Given the description of an element on the screen output the (x, y) to click on. 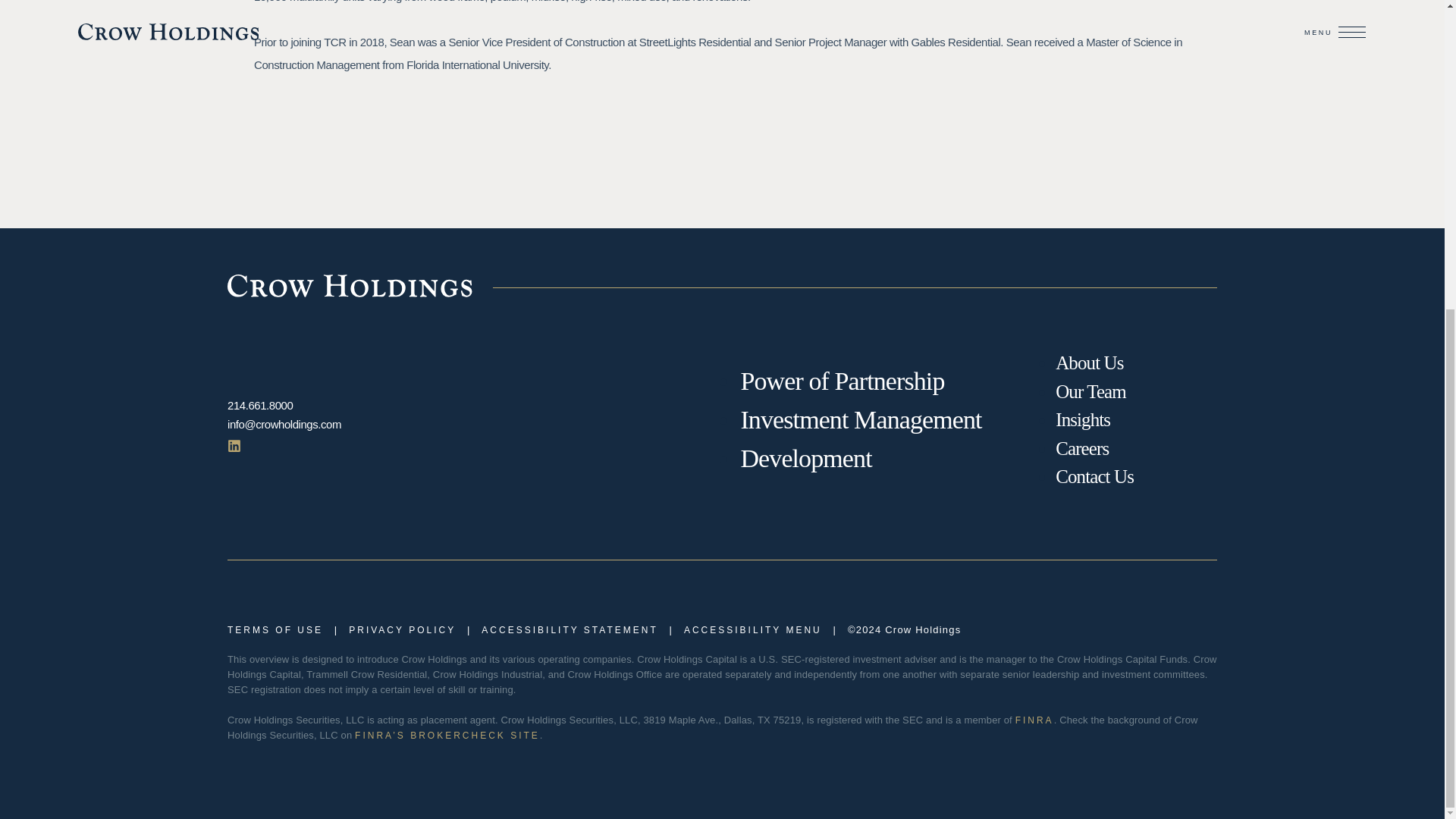
PRIVACY POLICY (402, 629)
Our Team (1090, 391)
Careers (1081, 448)
Development (804, 458)
ACCESSIBILITY STATEMENT (569, 629)
214.661.8000 (259, 404)
Contact Us (1094, 476)
Investment Management (860, 419)
Power of Partnership (841, 380)
ACCESSIBILITY MENU (753, 629)
